Given the description of an element on the screen output the (x, y) to click on. 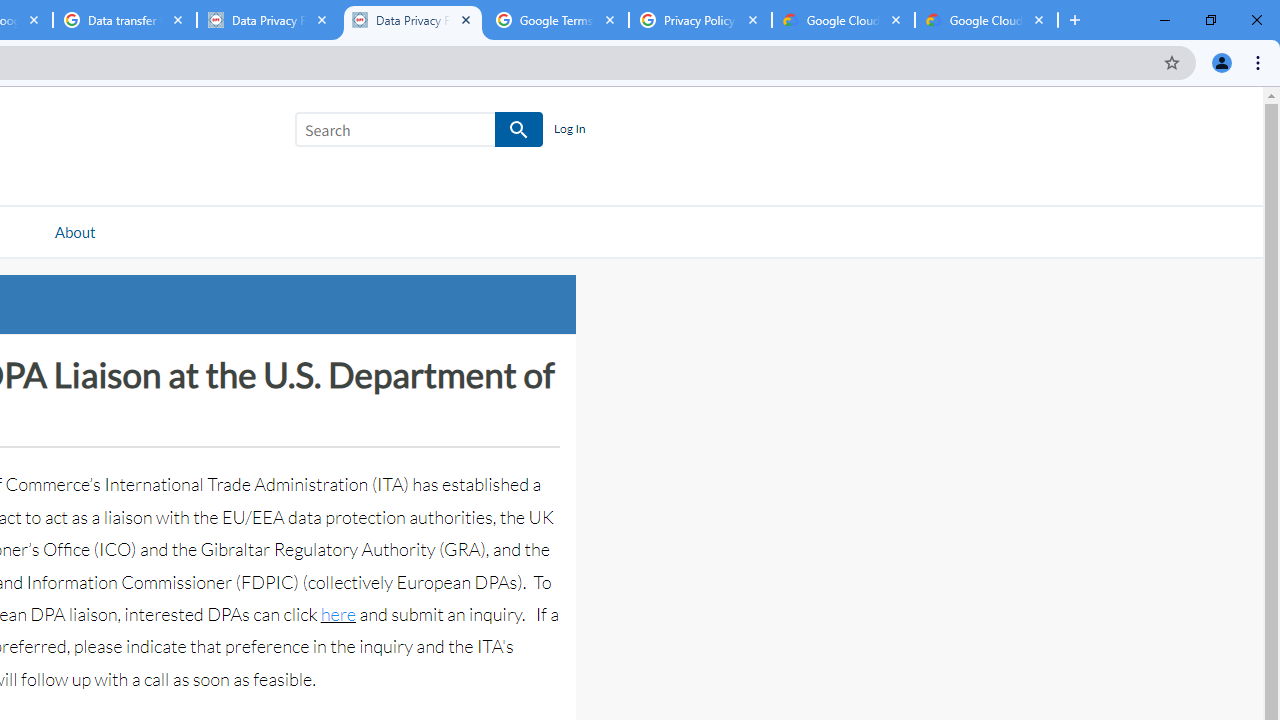
About (74, 231)
Data Privacy Framework (268, 20)
Google Cloud Privacy Notice (843, 20)
SEARCH (519, 130)
